Given the description of an element on the screen output the (x, y) to click on. 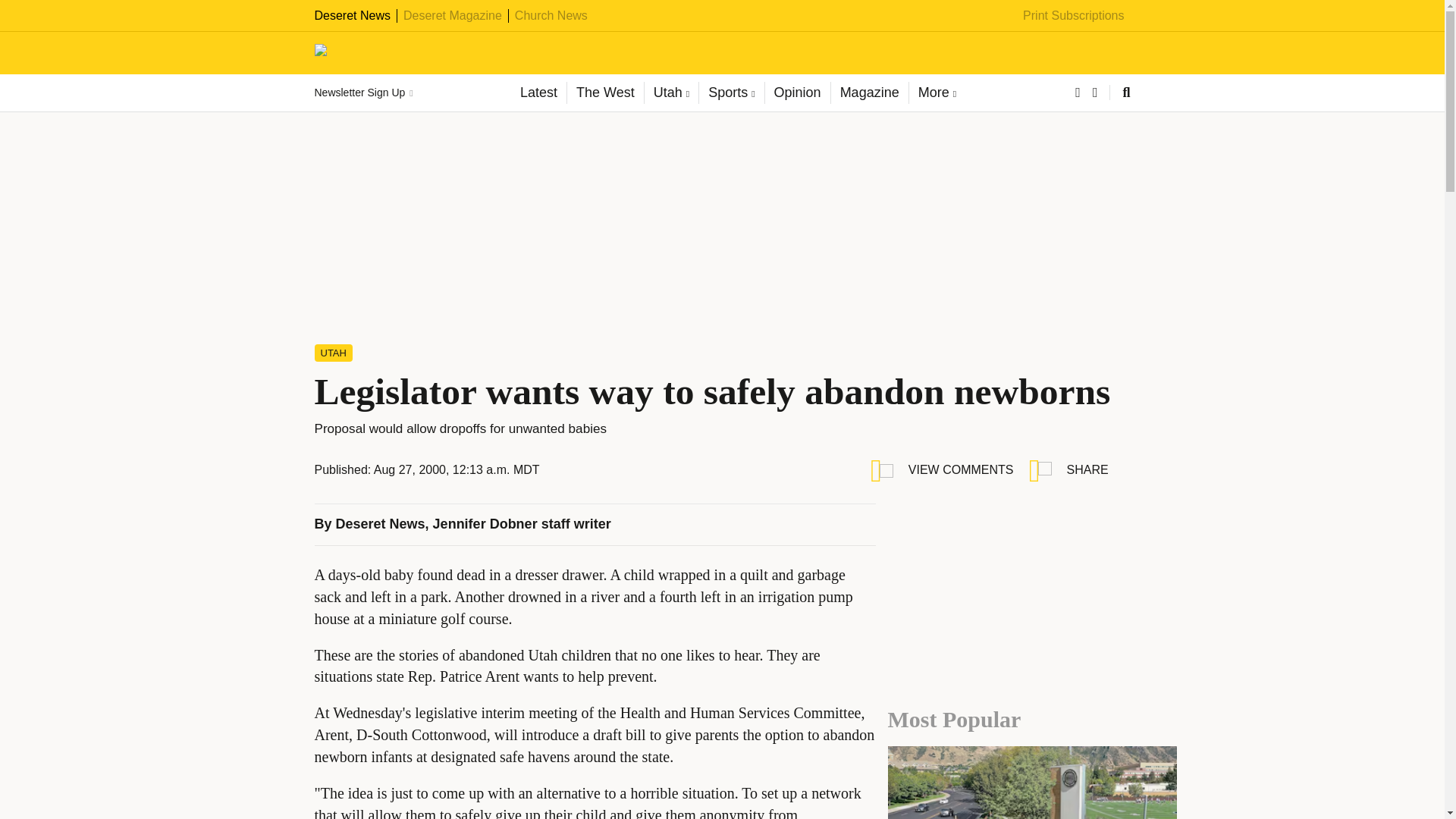
Utah (670, 92)
Magazine (868, 92)
Deseret Magazine (452, 15)
Opinion (796, 92)
Deseret News (380, 523)
The West (604, 92)
Print Subscriptions (1073, 15)
Newsletter Sign Up (363, 92)
Church News (551, 15)
UTAH (333, 352)
Sports (730, 92)
Deseret News (352, 15)
Latest (538, 92)
